Given the description of an element on the screen output the (x, y) to click on. 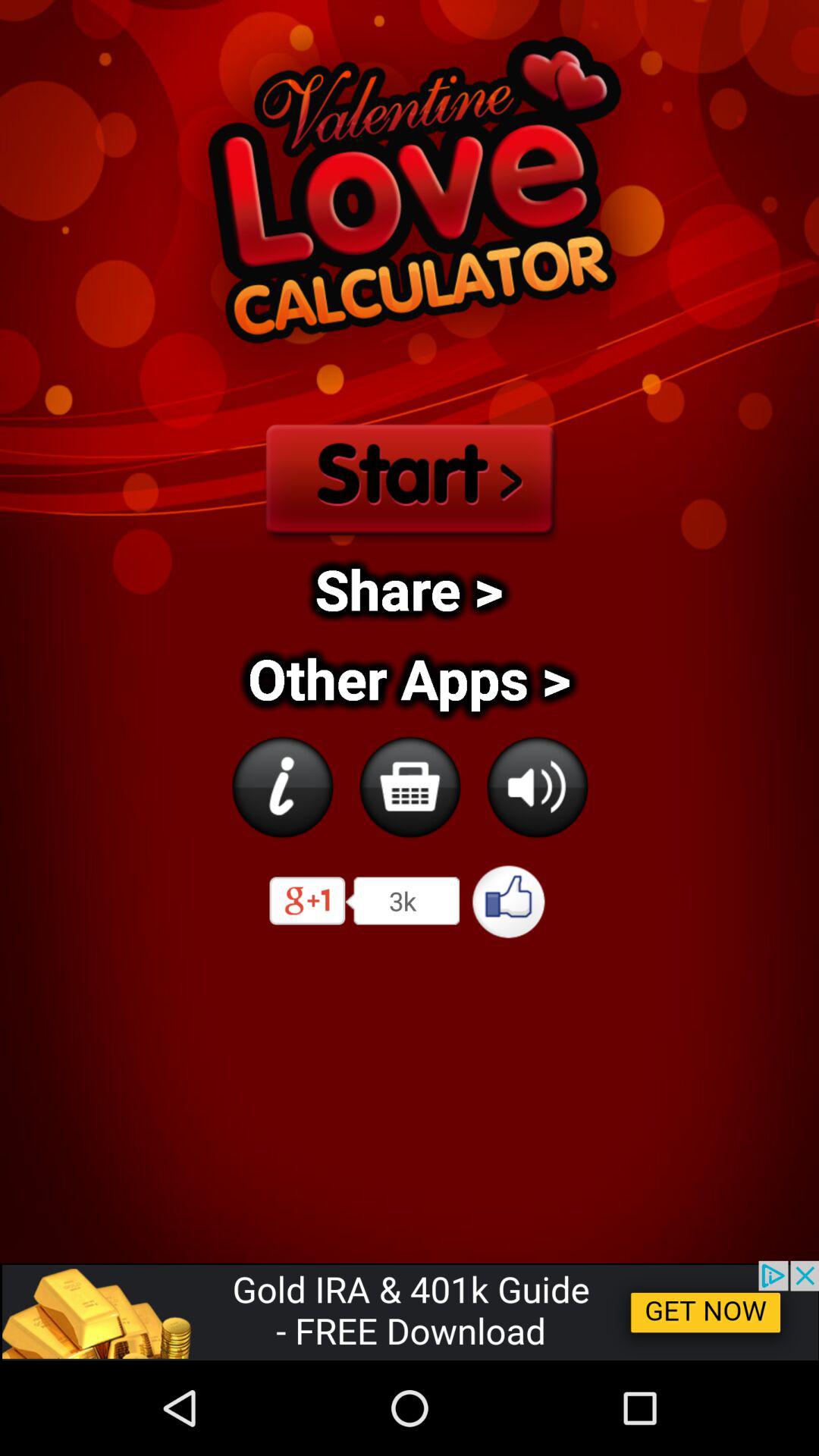
play sound (536, 786)
